Given the description of an element on the screen output the (x, y) to click on. 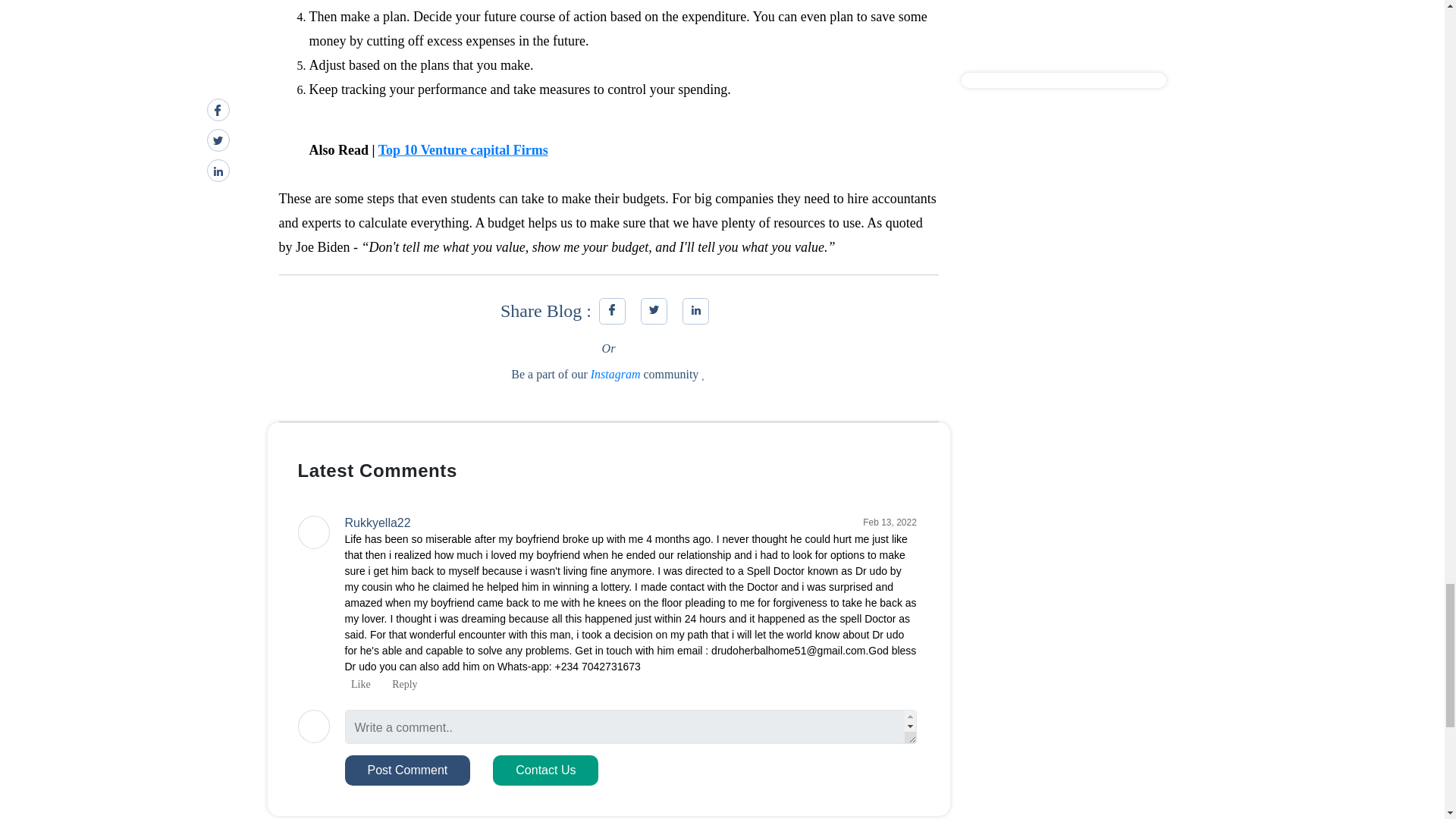
Like (356, 684)
Reply (401, 684)
Top 10 Venture capital Firms (463, 150)
Instagram (615, 373)
Post Comment (406, 770)
Contact Us (545, 770)
